Given the description of an element on the screen output the (x, y) to click on. 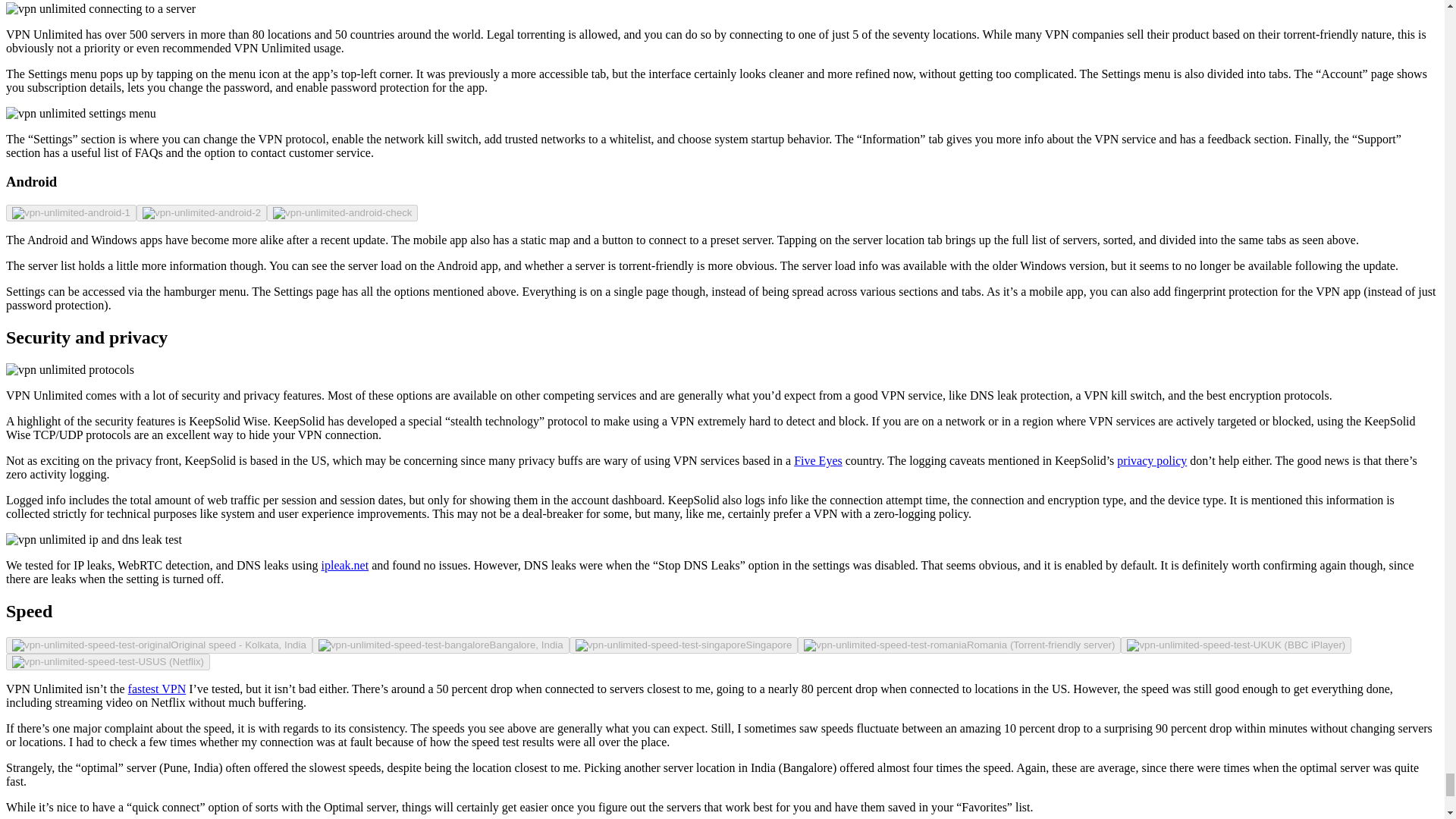
fastest VPN (157, 688)
vpn-unlimited-android-check (342, 213)
vpn-unlimited-review-11 (69, 369)
privacy policy (1151, 460)
ipleak.net (345, 564)
vpn-unlimited-review-12 (93, 540)
Bangalore, India (441, 645)
Singapore (683, 645)
Original speed - Kolkata, India (159, 645)
vpn-unlimited-speed-test-original (90, 645)
